Given the description of an element on the screen output the (x, y) to click on. 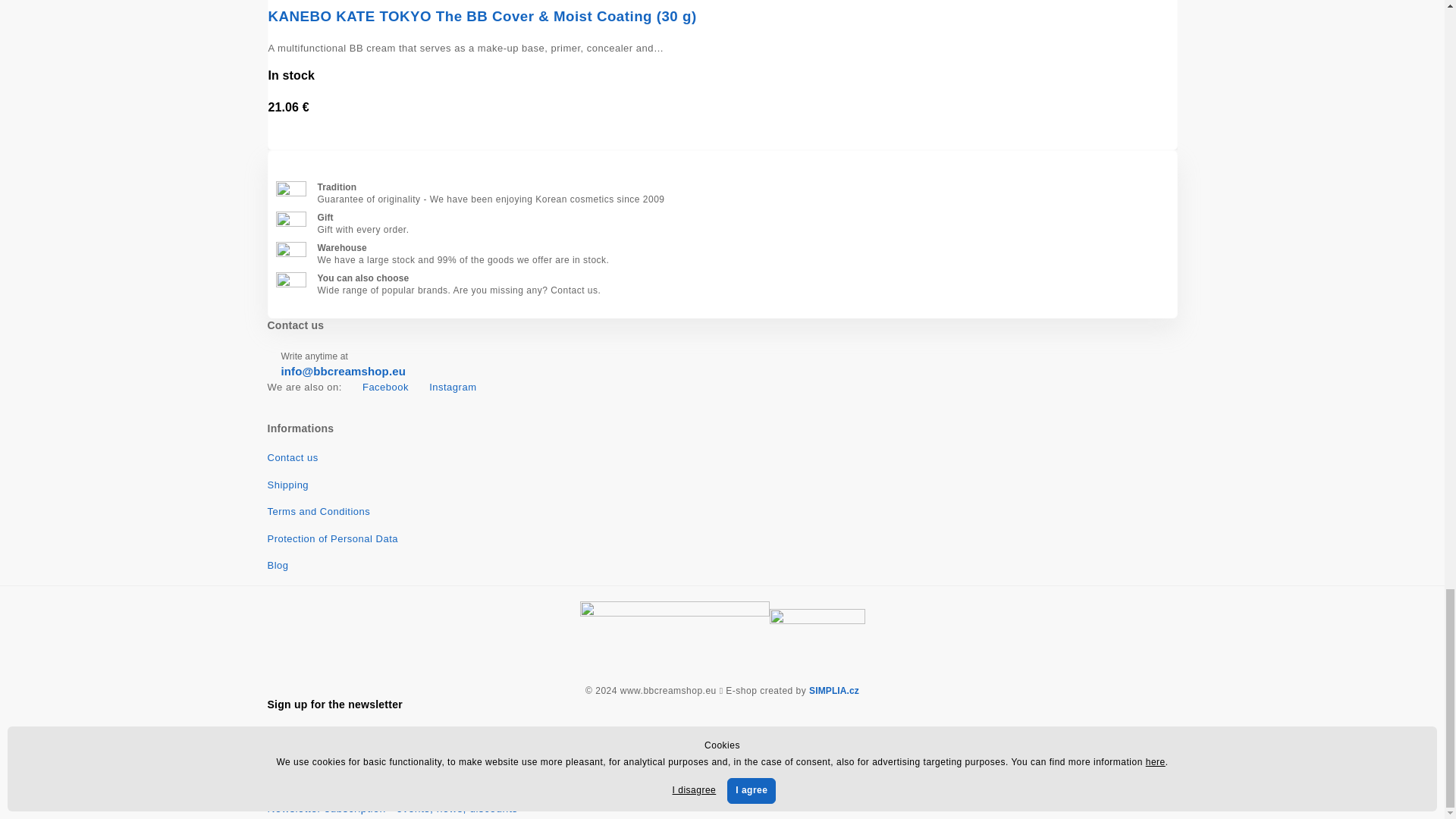
Detail (1139, 101)
Remove from comparison (729, 139)
Add to Favourites (715, 139)
